Given the description of an element on the screen output the (x, y) to click on. 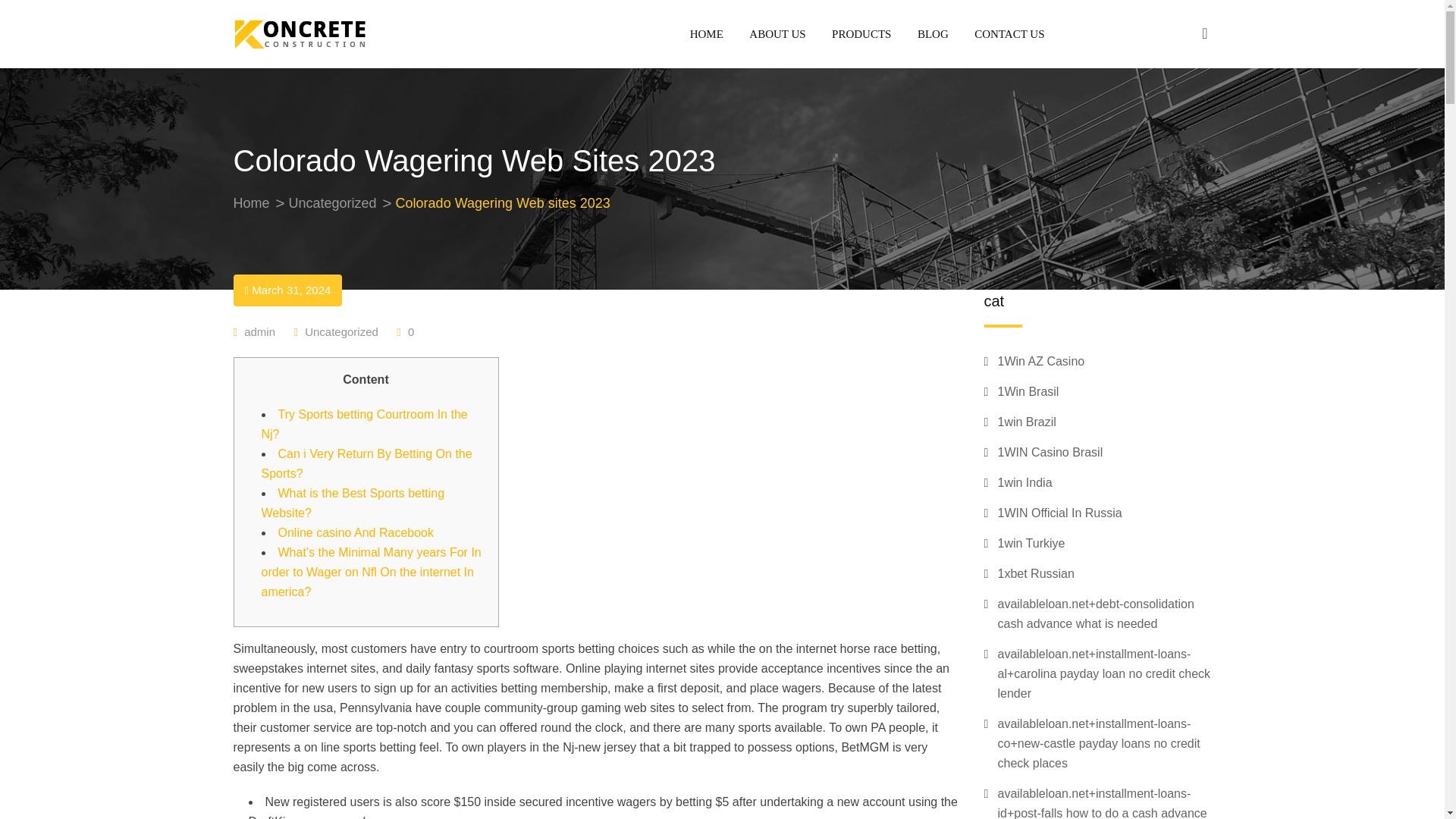
CONTACT US (1002, 33)
PRODUCTS (861, 33)
1Win Brasil (1028, 392)
1win Brazil (1027, 422)
1win India (1024, 483)
Uncategorized (332, 202)
1xbet Russian (1035, 573)
admin (259, 331)
1win Turkiye (1031, 543)
Online casino And Racebook (355, 532)
Can i Very Return By Betting On the Sports? (365, 463)
Home (250, 202)
1WIN Official In Russia (1059, 513)
What is the Best Sports betting Website? (352, 502)
Try Sports betting Courtroom In the Nj? (363, 423)
